Given the description of an element on the screen output the (x, y) to click on. 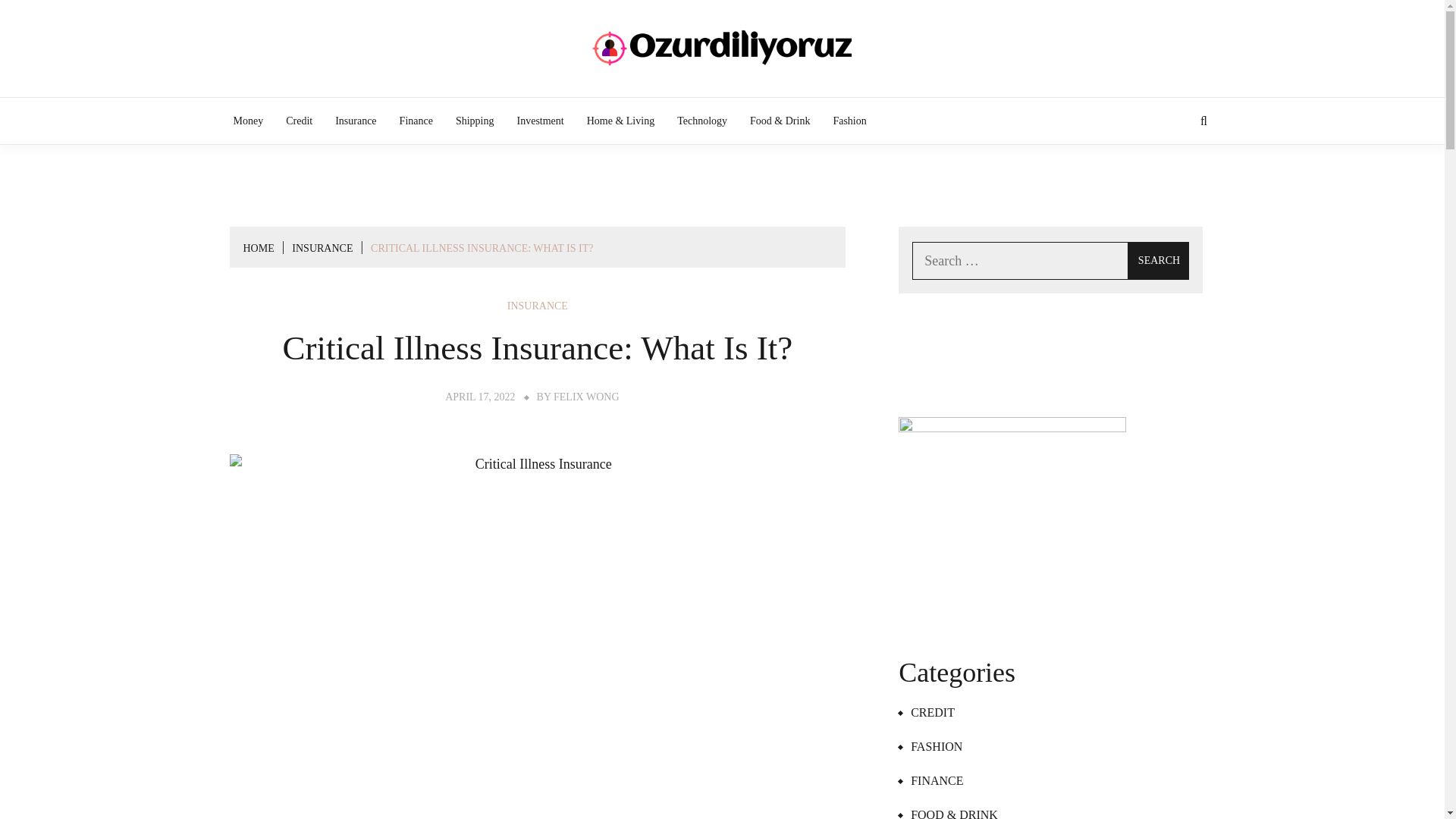
Search (1158, 260)
HOME (258, 247)
FELIX WONG (585, 396)
INSURANCE (536, 306)
APRIL 17, 2022 (480, 396)
Technology (701, 120)
Shipping (474, 120)
Insurance (355, 120)
Search (1158, 260)
CRITICAL ILLNESS INSURANCE: WHAT IS IT? (481, 247)
INSURANCE (322, 247)
Investment (539, 120)
OZURFILIYORUZ (820, 108)
